Given the description of an element on the screen output the (x, y) to click on. 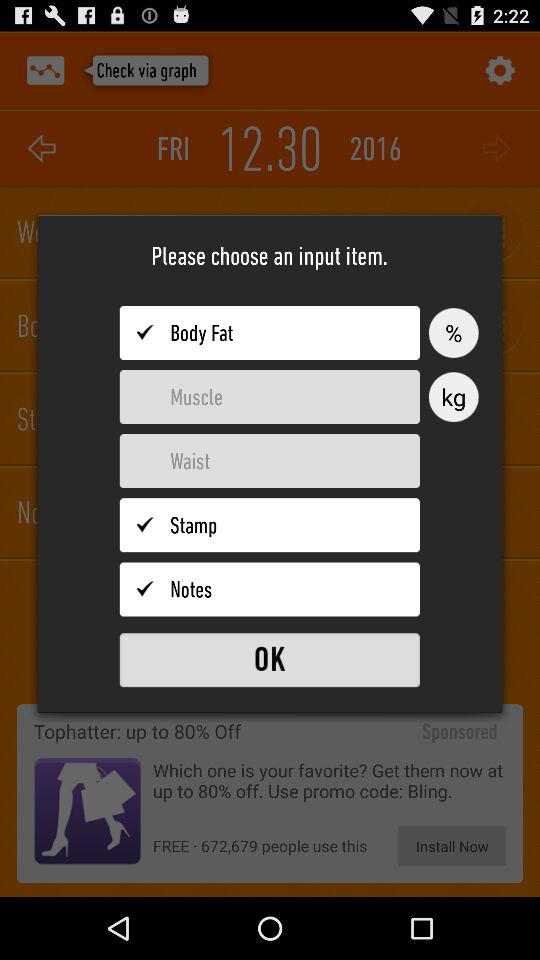
select the item below the % item (453, 397)
